Given the description of an element on the screen output the (x, y) to click on. 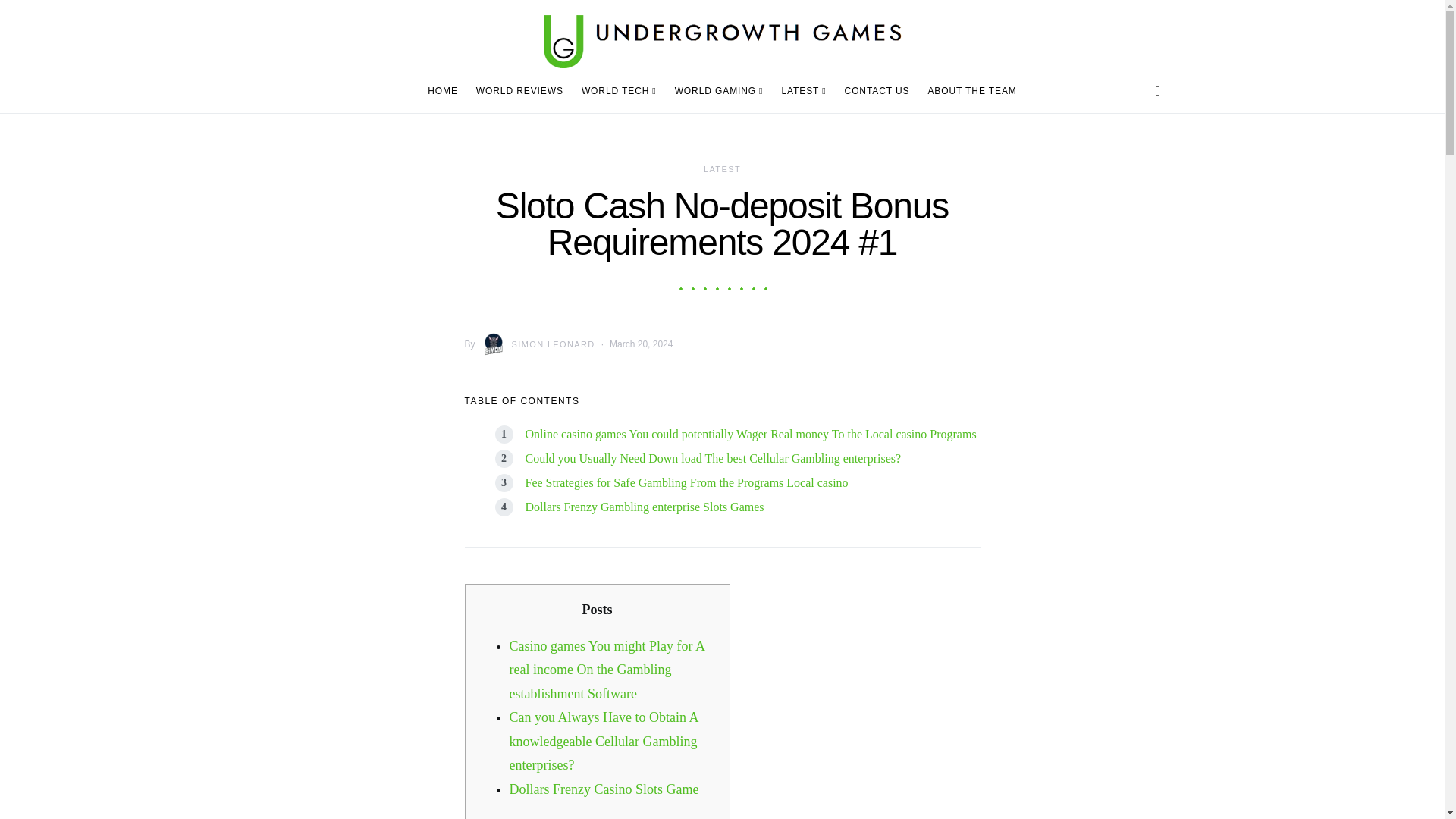
WORLD GAMING (719, 90)
ABOUT THE TEAM (967, 90)
CONTACT US (876, 90)
View all posts by Simon Leonard (535, 344)
LATEST (722, 168)
WORLD TECH (618, 90)
Dollars Frenzy Gambling enterprise Slots Games (643, 506)
SIMON LEONARD (535, 344)
